Given the description of an element on the screen output the (x, y) to click on. 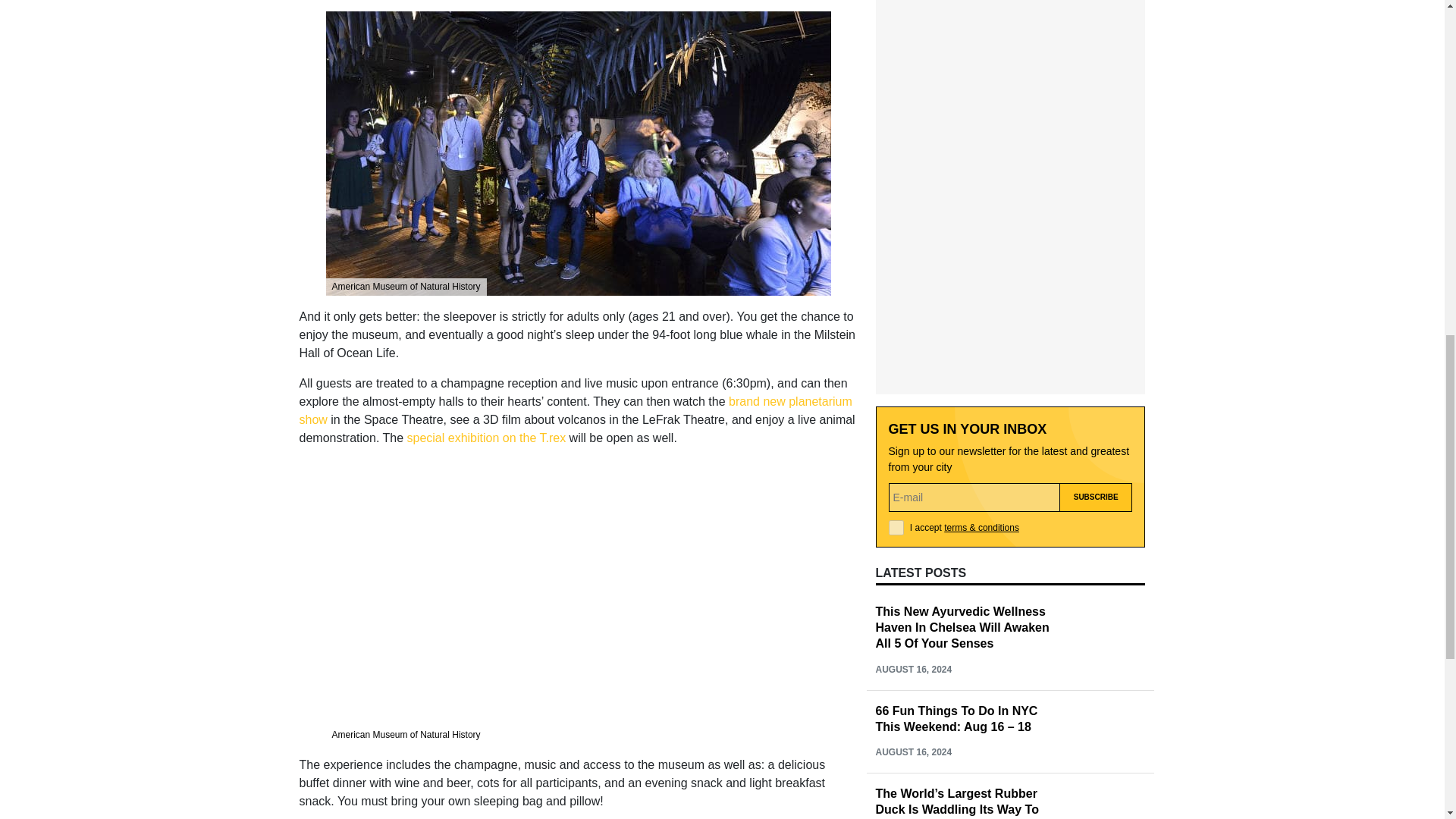
Subscribe (1095, 316)
special exhibition on the T.rex (486, 437)
brand new planetarium show (574, 409)
1 (896, 346)
AUGUST 16, 2024 (913, 570)
Subscribe (1095, 316)
AUGUST 16, 2024 (913, 487)
